Given the description of an element on the screen output the (x, y) to click on. 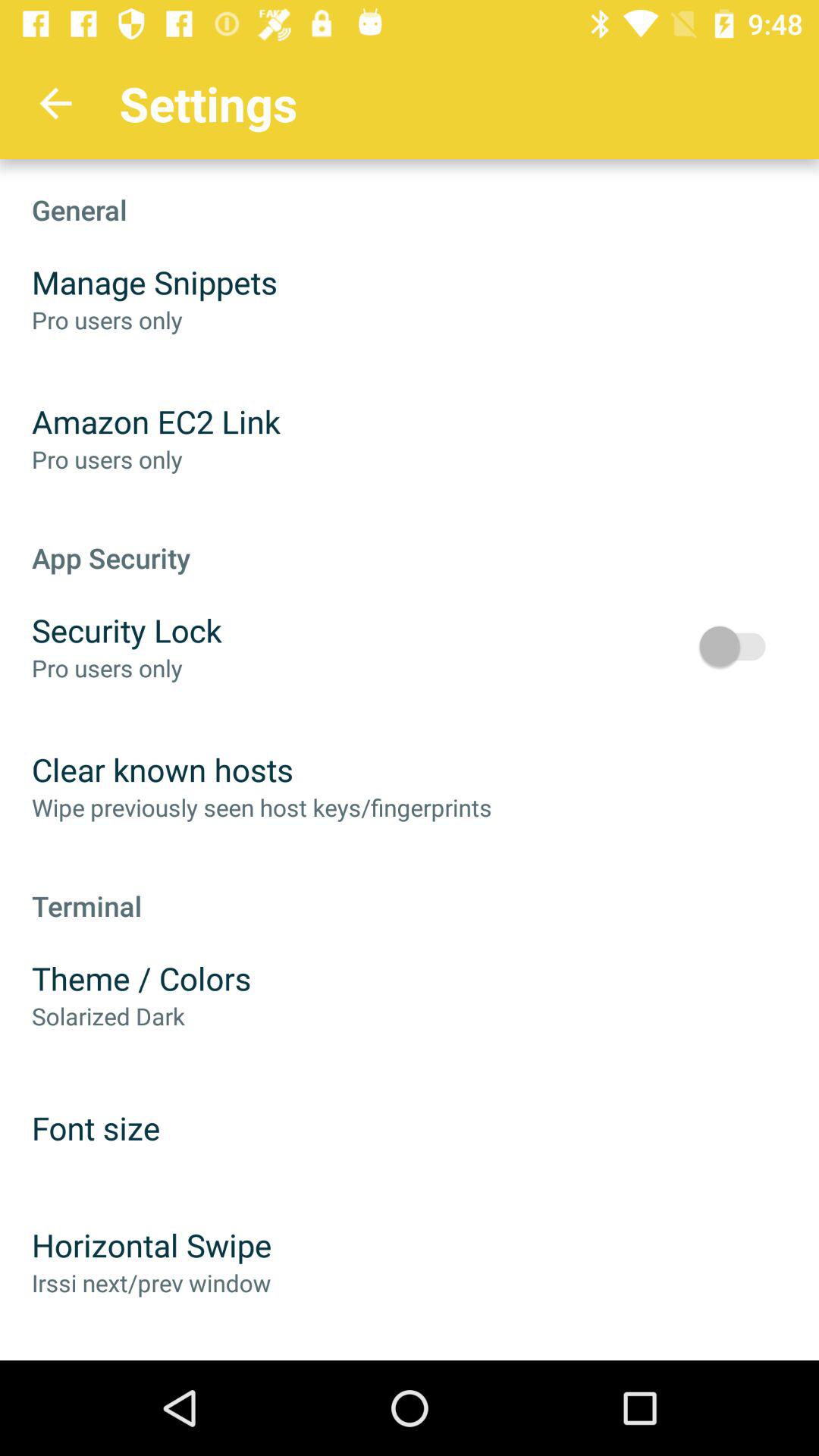
flip until horizontal swipe item (151, 1244)
